Given the description of an element on the screen output the (x, y) to click on. 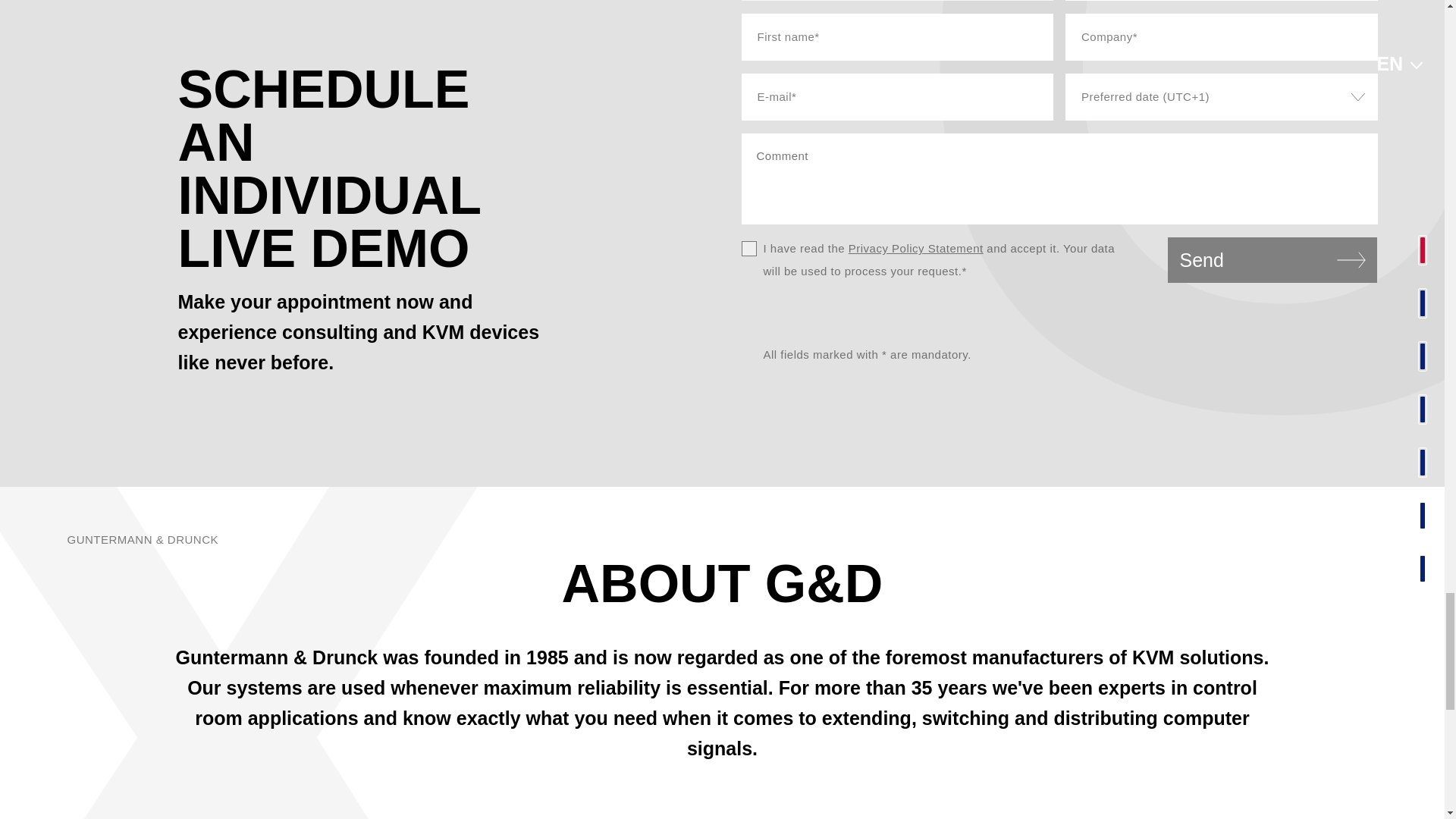
Send (1272, 259)
Privacy Policy Statement (916, 247)
E-mail (897, 96)
Send (1272, 259)
Company (1221, 36)
First name (897, 36)
